Given the description of an element on the screen output the (x, y) to click on. 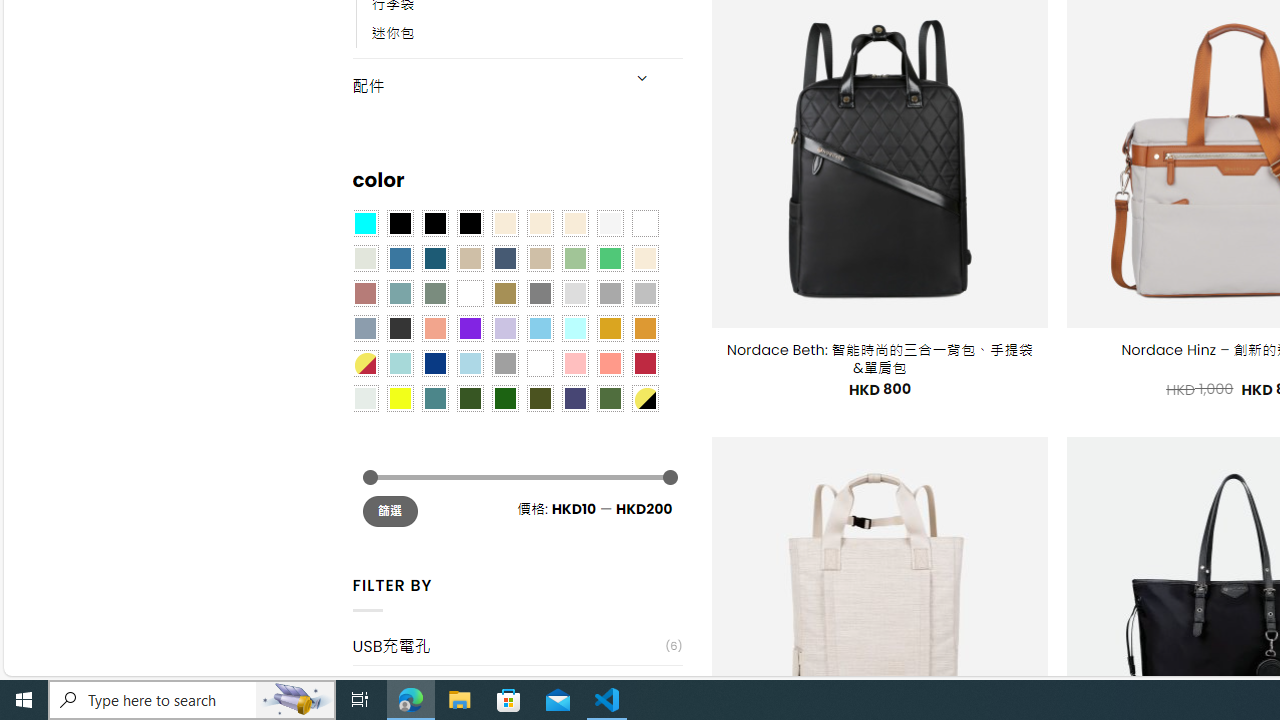
Cream (574, 223)
